Given the description of an element on the screen output the (x, y) to click on. 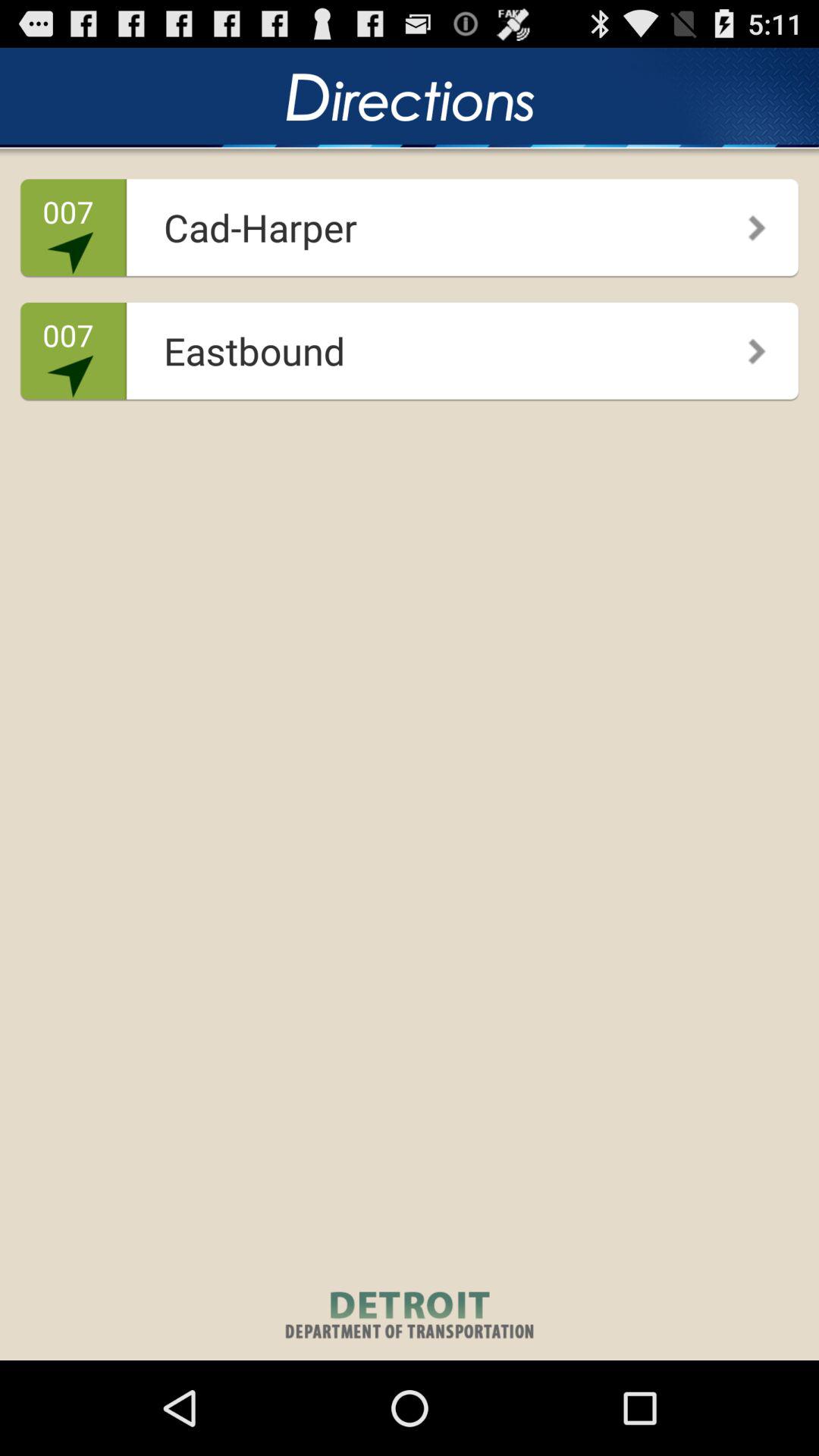
turn off item below the cad-harper icon (404, 345)
